Given the description of an element on the screen output the (x, y) to click on. 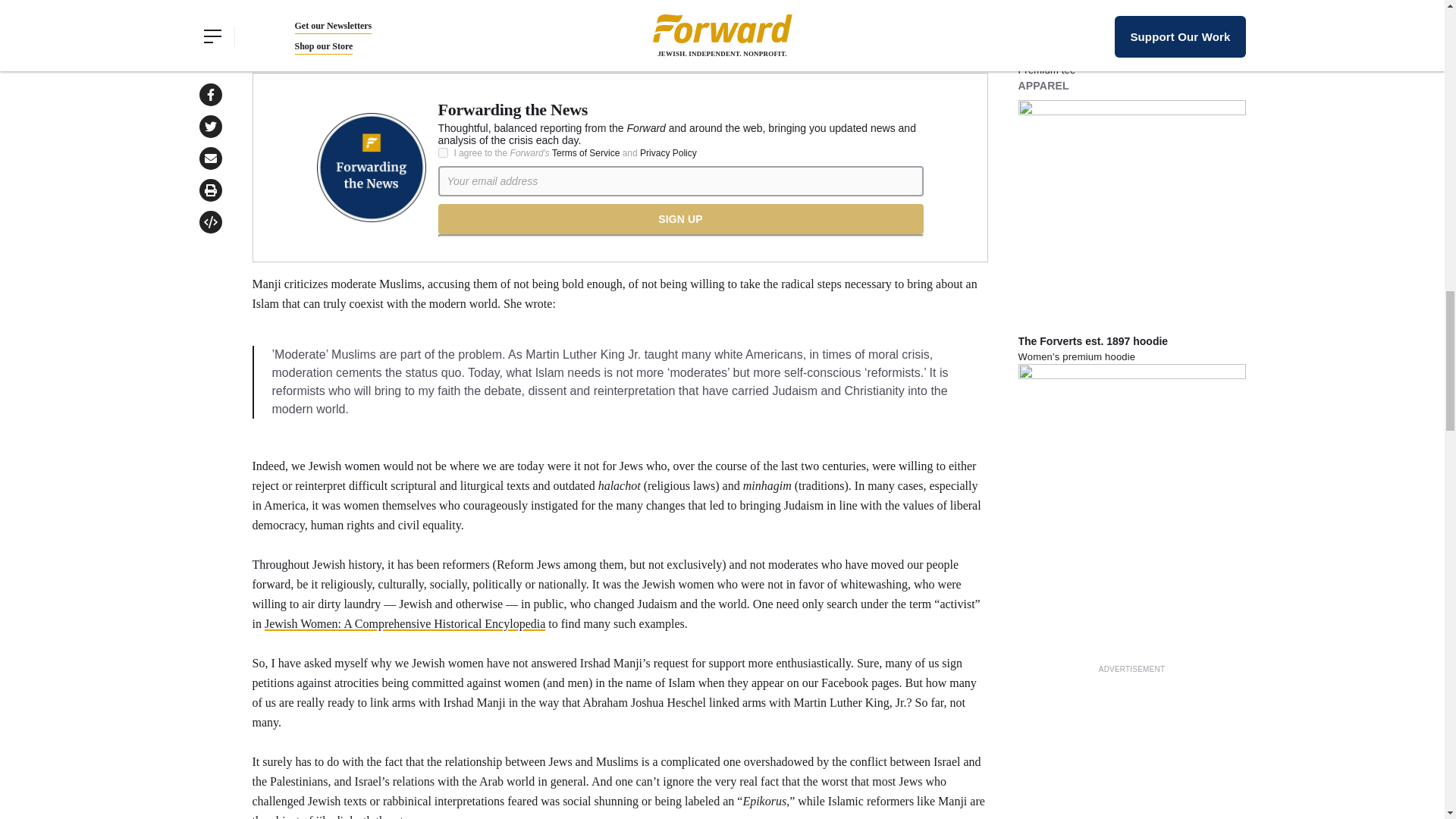
Yes (443, 153)
Sign Up (680, 218)
